Given the description of an element on the screen output the (x, y) to click on. 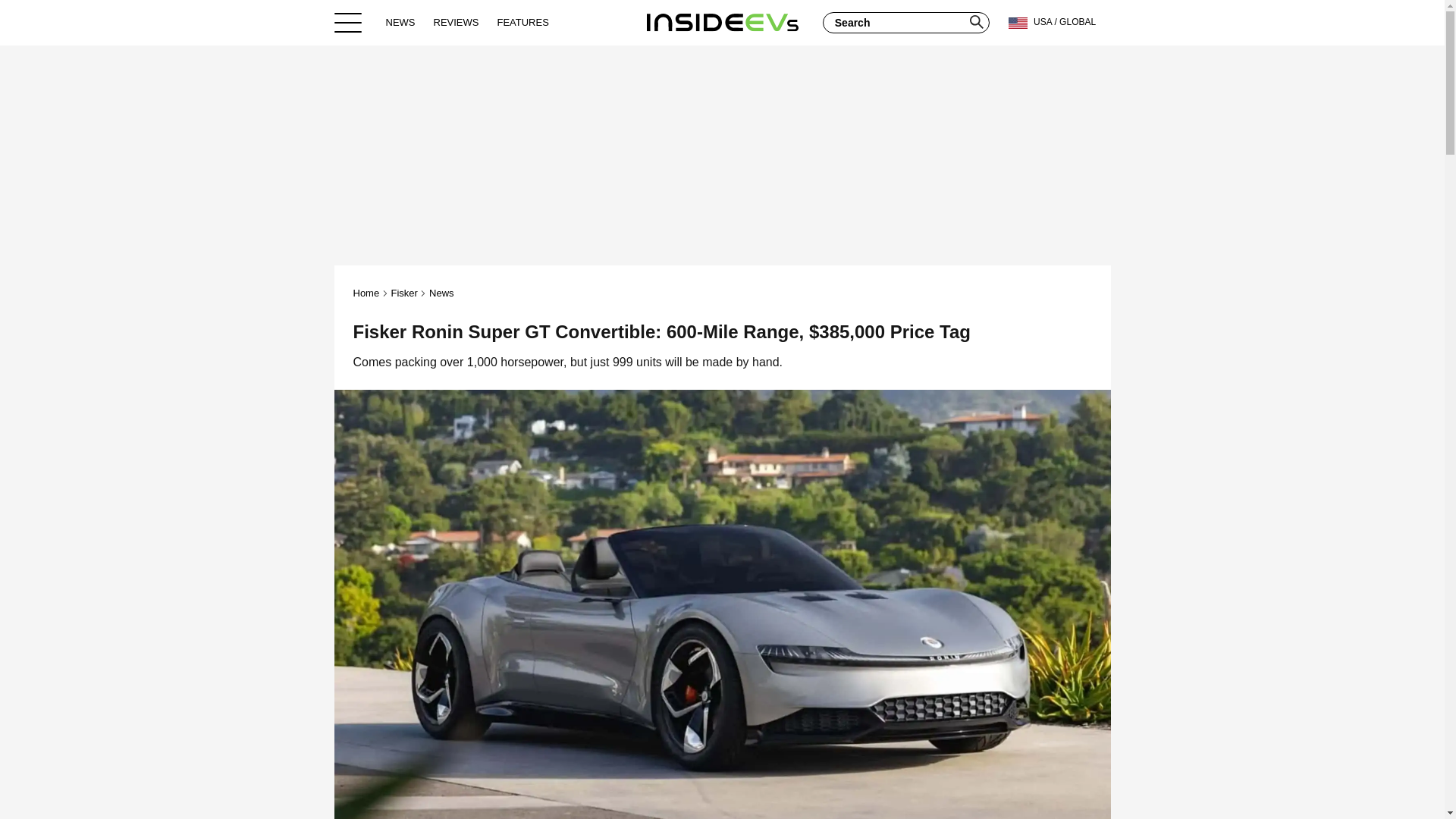
Fisker (403, 292)
Home (366, 293)
News (441, 292)
REVIEWS (456, 22)
NEWS (399, 22)
Home (721, 22)
FEATURES (522, 22)
